Given the description of an element on the screen output the (x, y) to click on. 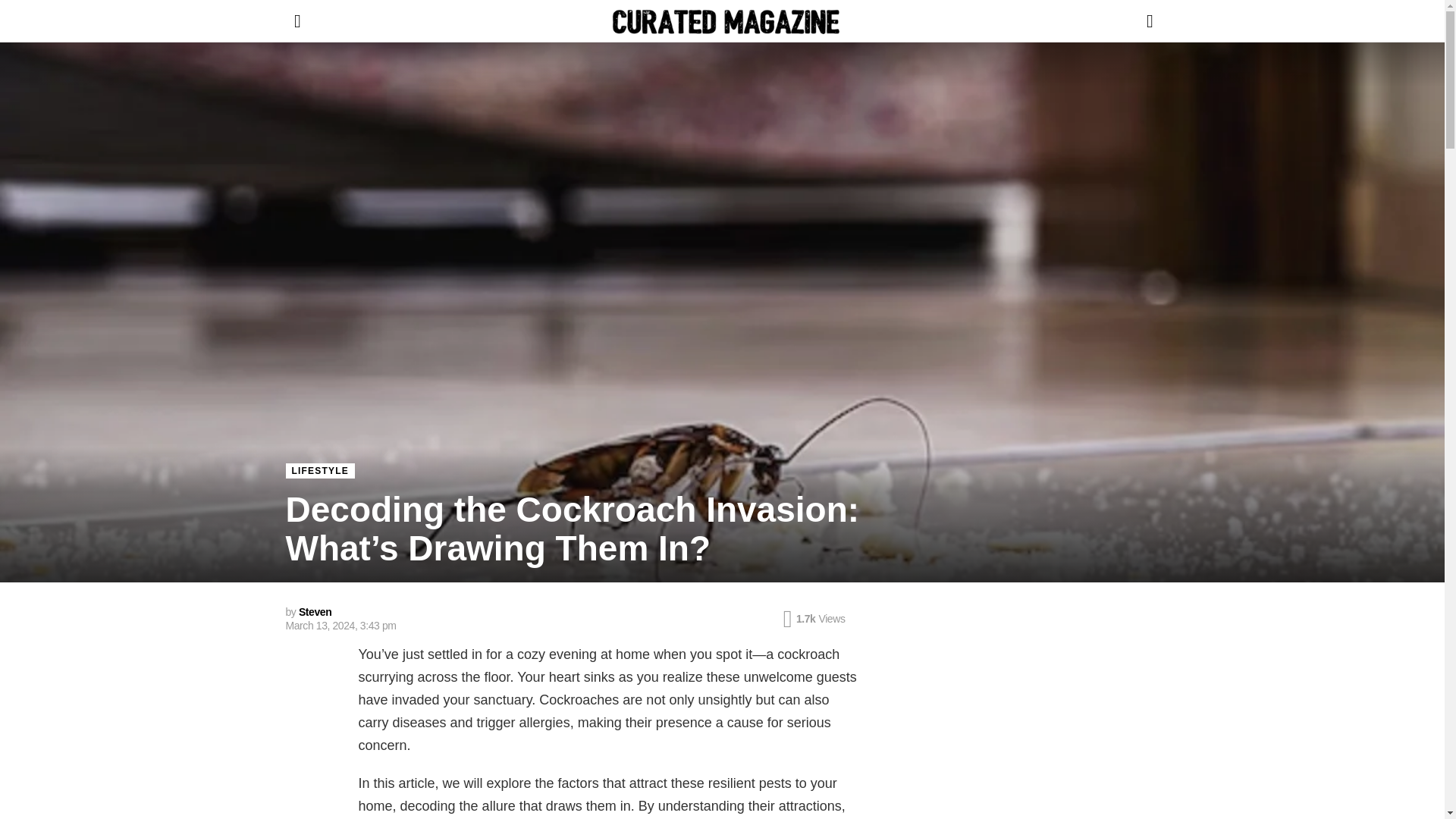
LIFESTYLE (319, 470)
Steven (314, 612)
Posts by Steven (314, 612)
Menu (296, 21)
